Given the description of an element on the screen output the (x, y) to click on. 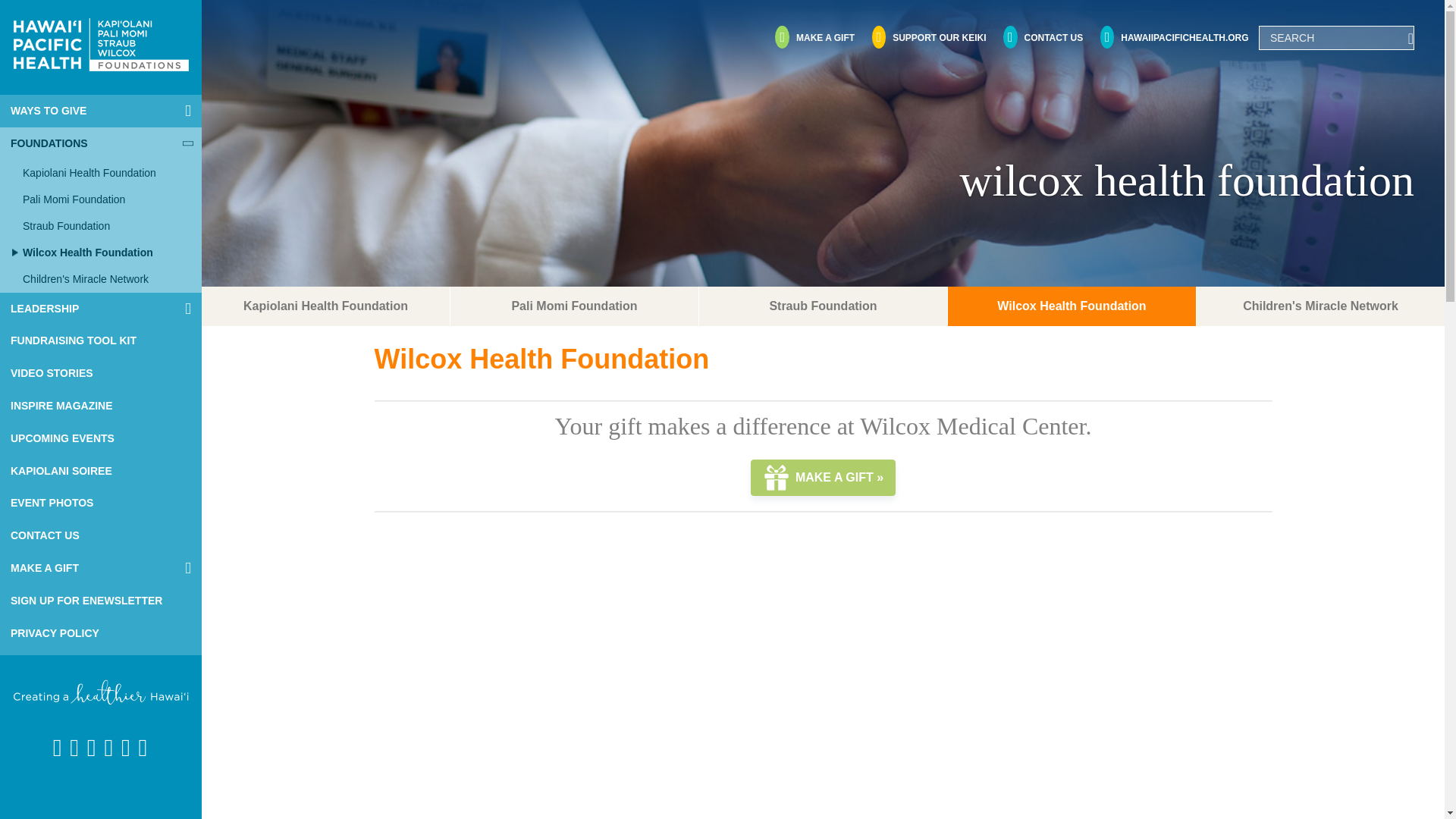
KAPIOLANI SOIREE (101, 471)
FUNDRAISING TOOL KIT (101, 340)
Kapiolani Health Foundation (106, 172)
Follow Hawaii Pacific Health on Pinterest (108, 747)
Children's Miracle Network (106, 279)
Straub Foundation (106, 225)
Contact Us (1042, 38)
CONTACT US (101, 535)
Follow Hawaii Pacific Health on Twitter (73, 747)
FOUNDATIONS (101, 143)
WAYS TO GIVE (101, 111)
Wilcox Health Foundation (106, 252)
VIDEO STORIES (101, 373)
Children's Miracle Network (928, 38)
UPCOMING EVENTS (101, 438)
